Given the description of an element on the screen output the (x, y) to click on. 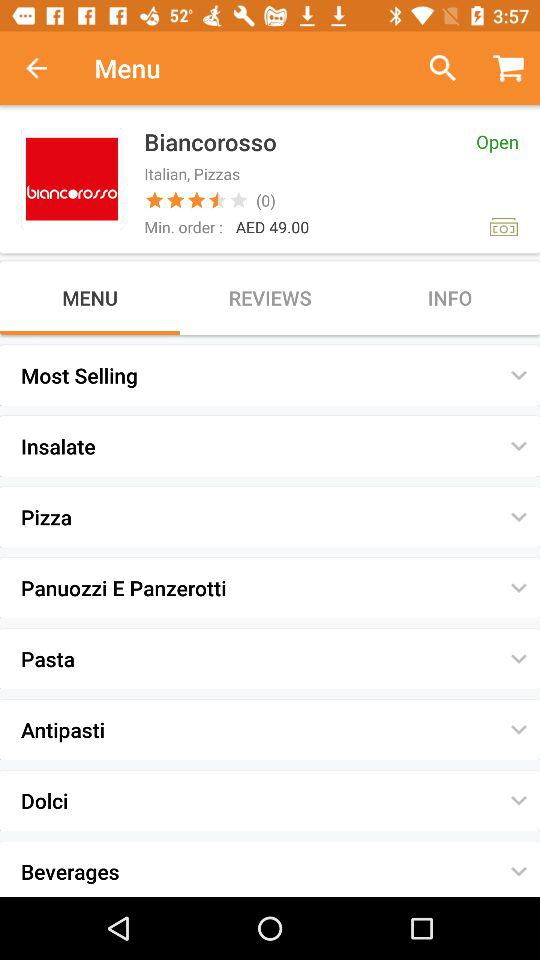
search the store (434, 68)
